Given the description of an element on the screen output the (x, y) to click on. 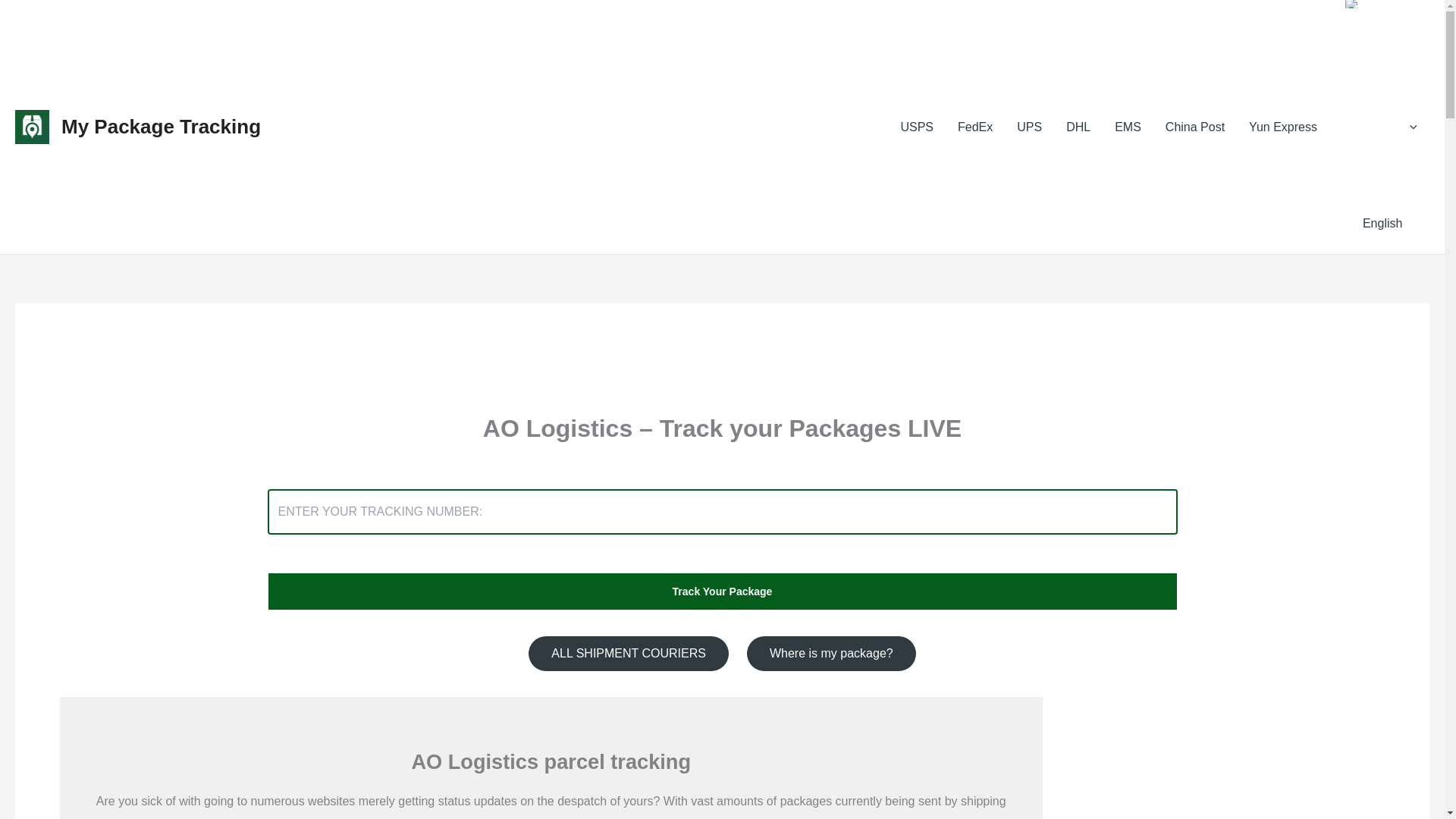
Track Your Package (721, 591)
My Package Tracking (160, 126)
English (1351, 4)
